Given the description of an element on the screen output the (x, y) to click on. 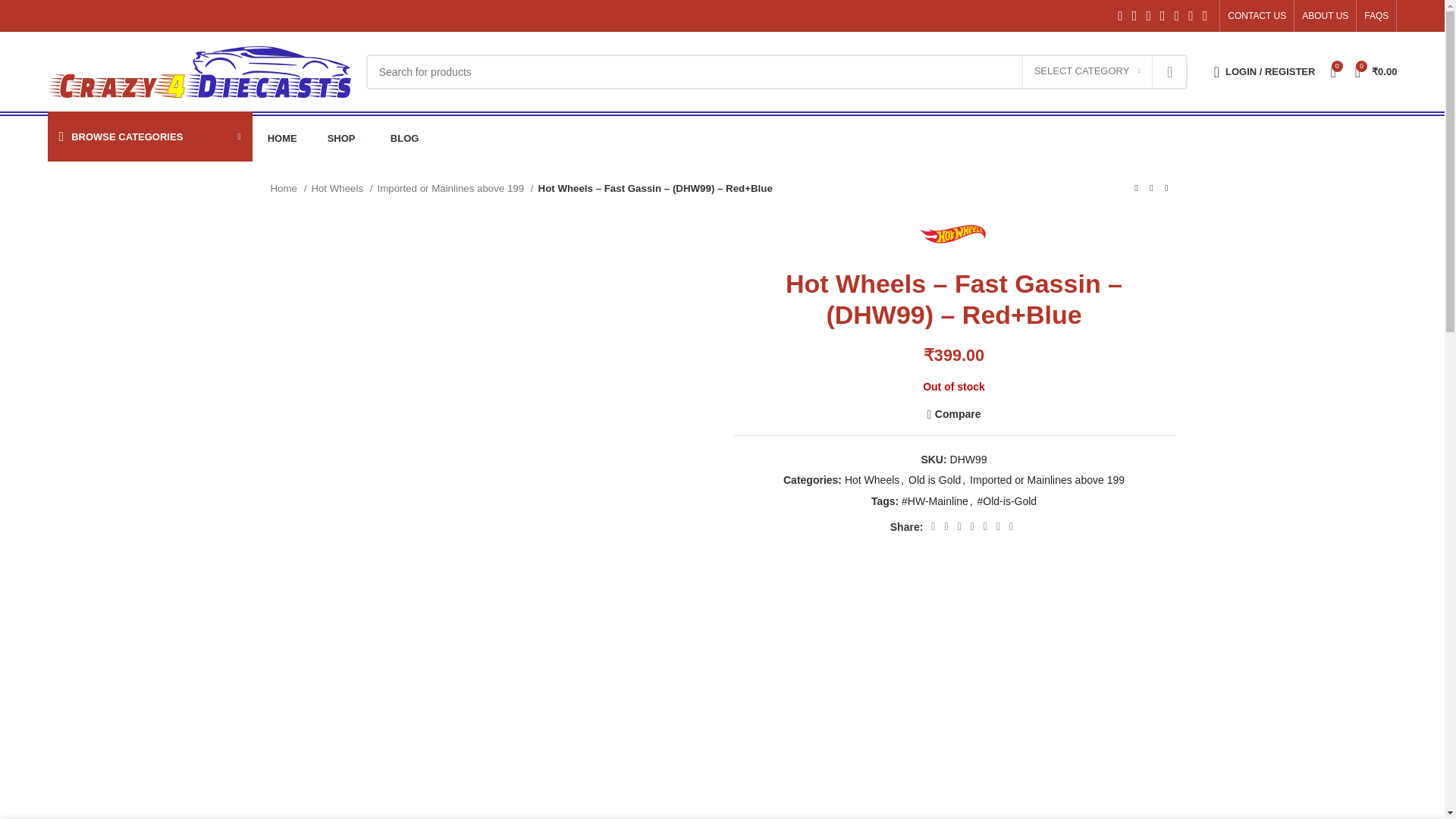
Search for products (777, 71)
Hot Wheels (954, 234)
Shopping cart (1376, 71)
SELECT CATEGORY (1087, 71)
ABOUT US (1324, 15)
CONTACT US (1256, 15)
SELECT CATEGORY (1087, 71)
My account (1265, 71)
